Given the description of an element on the screen output the (x, y) to click on. 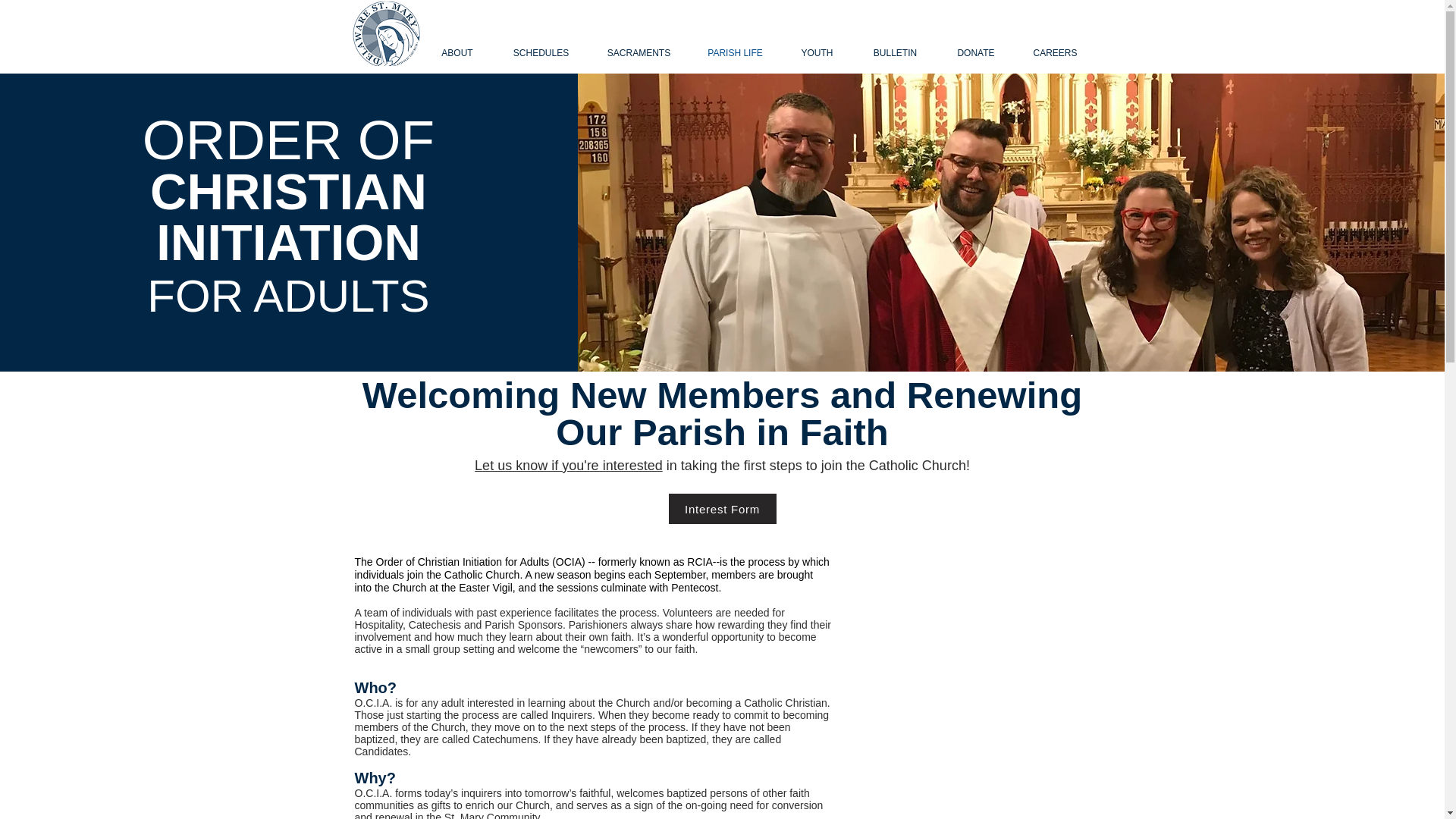
SACRAMENTS (639, 53)
ABOUT (456, 53)
PARISH LIFE (735, 53)
SCHEDULES (541, 53)
